Given the description of an element on the screen output the (x, y) to click on. 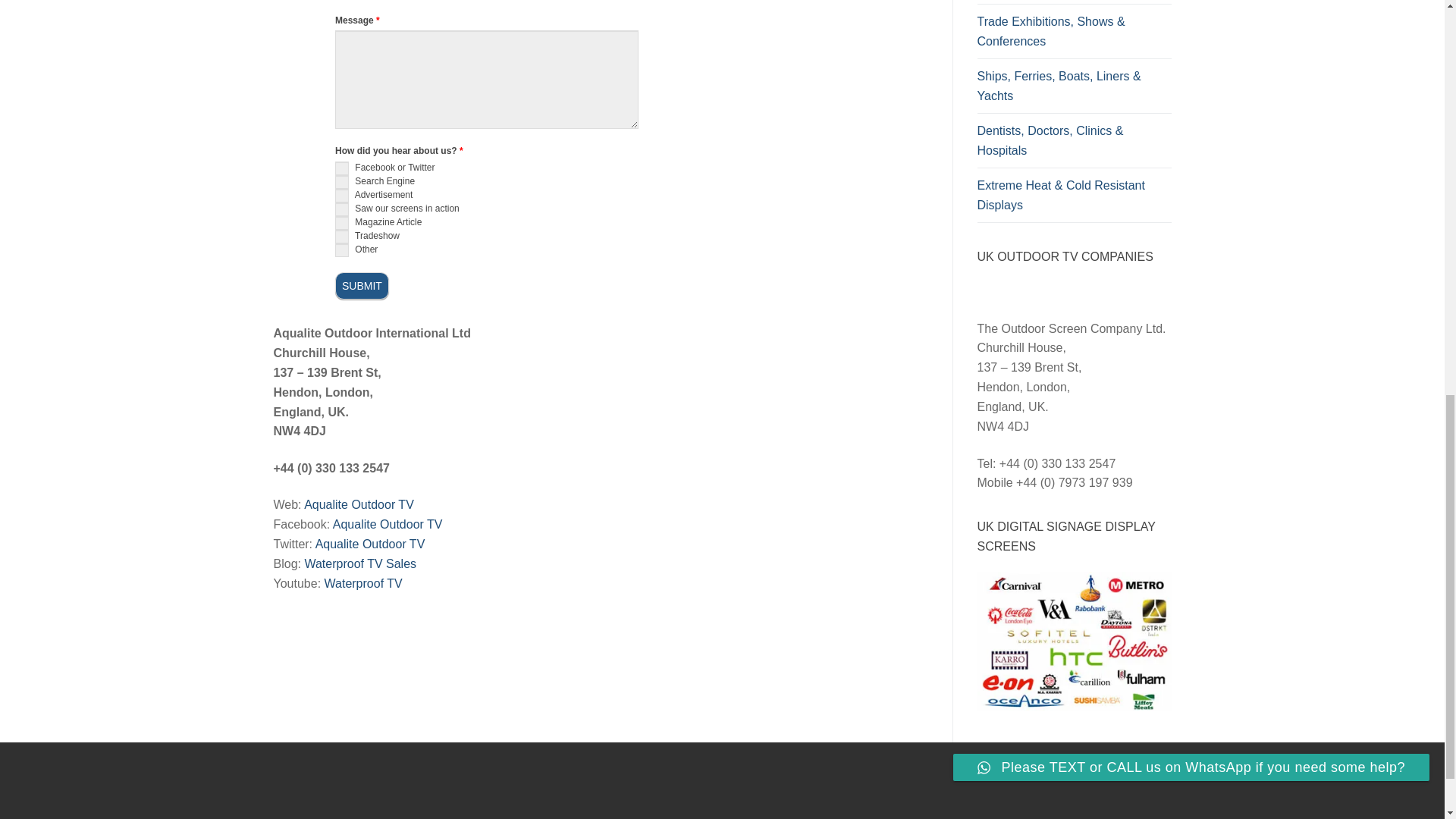
Saw our screens in action (341, 209)
Aqualite Outdoor TV (358, 504)
Waterproof TV Sales (360, 563)
Facebook or Twitter (341, 168)
Search Engine (341, 182)
Waterproof TV (363, 583)
Submit (361, 285)
Submit (361, 285)
Aqualite Outdoor TV (387, 523)
Aqualite Outdoor TV (370, 543)
